Given the description of an element on the screen output the (x, y) to click on. 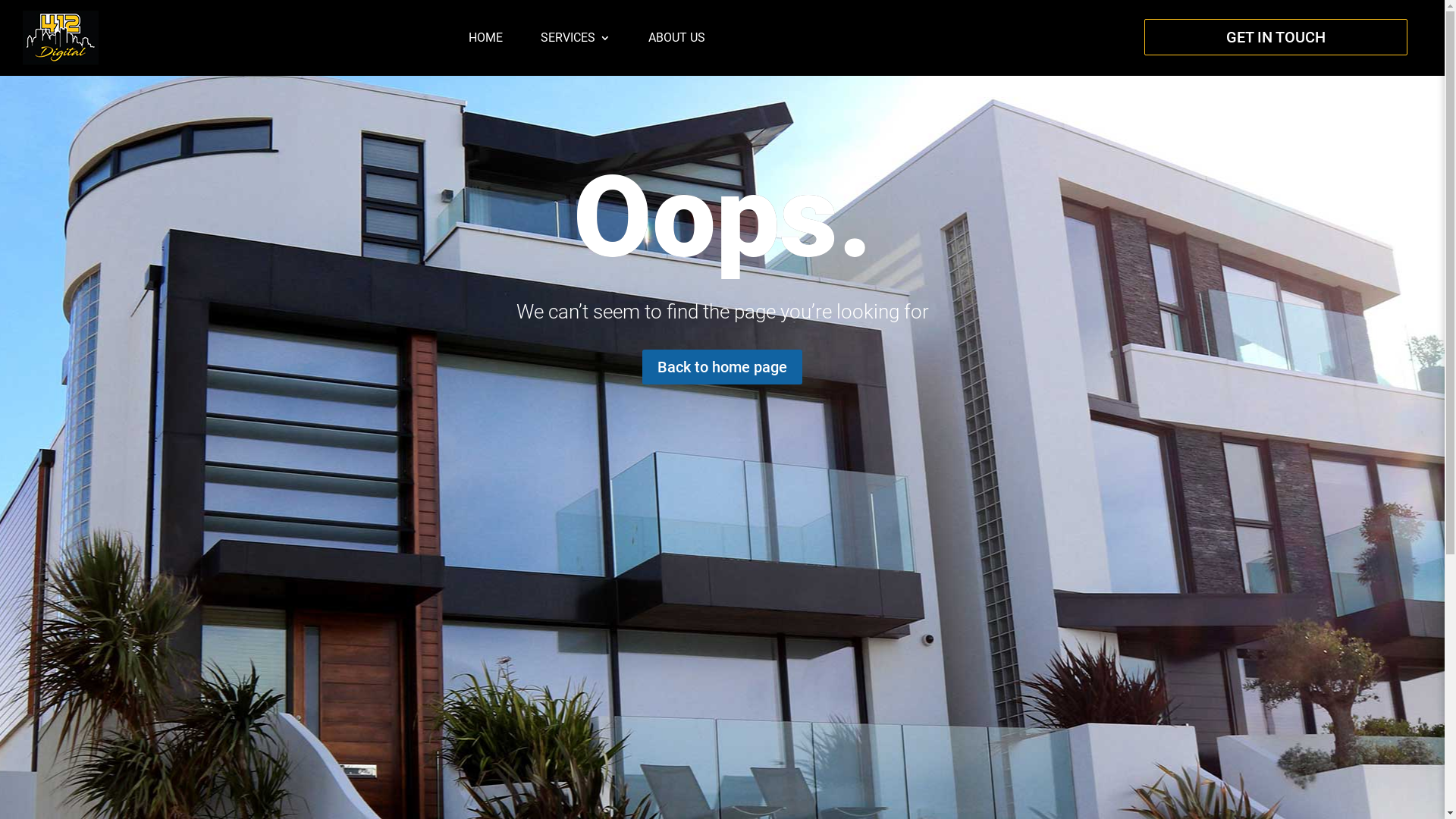
Back to home page Element type: text (722, 366)
SERVICES Element type: text (575, 37)
GET IN TOUCH Element type: text (1275, 36)
ABOUT US Element type: text (676, 37)
HOME Element type: text (485, 37)
